Given the description of an element on the screen output the (x, y) to click on. 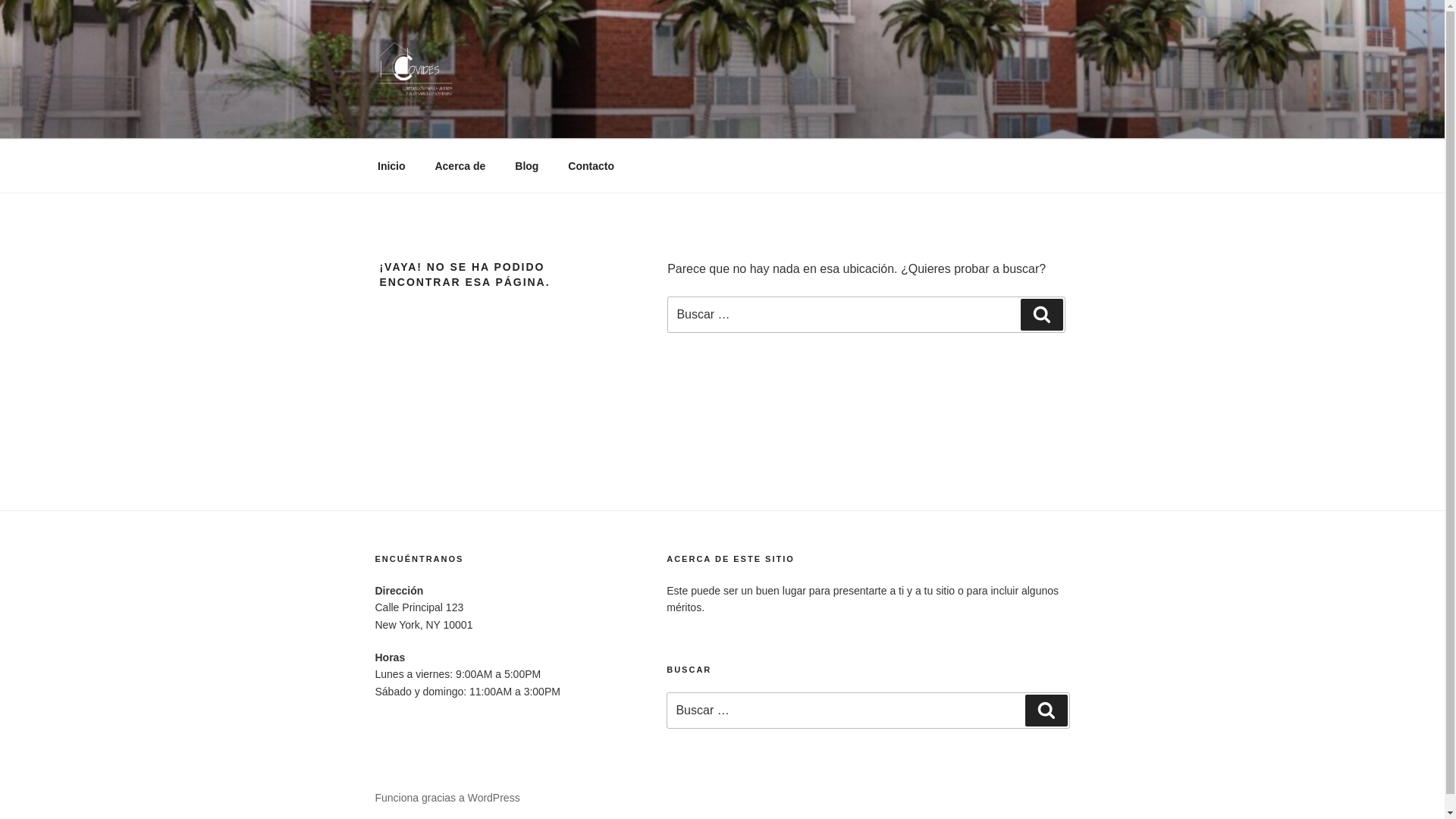
Contacto (590, 165)
Blog (526, 165)
COVIDES.ORG (486, 119)
Buscar (1046, 710)
Buscar (1041, 314)
Acerca de (460, 165)
Funciona gracias a WordPress (446, 797)
Inicio (391, 165)
